Given the description of an element on the screen output the (x, y) to click on. 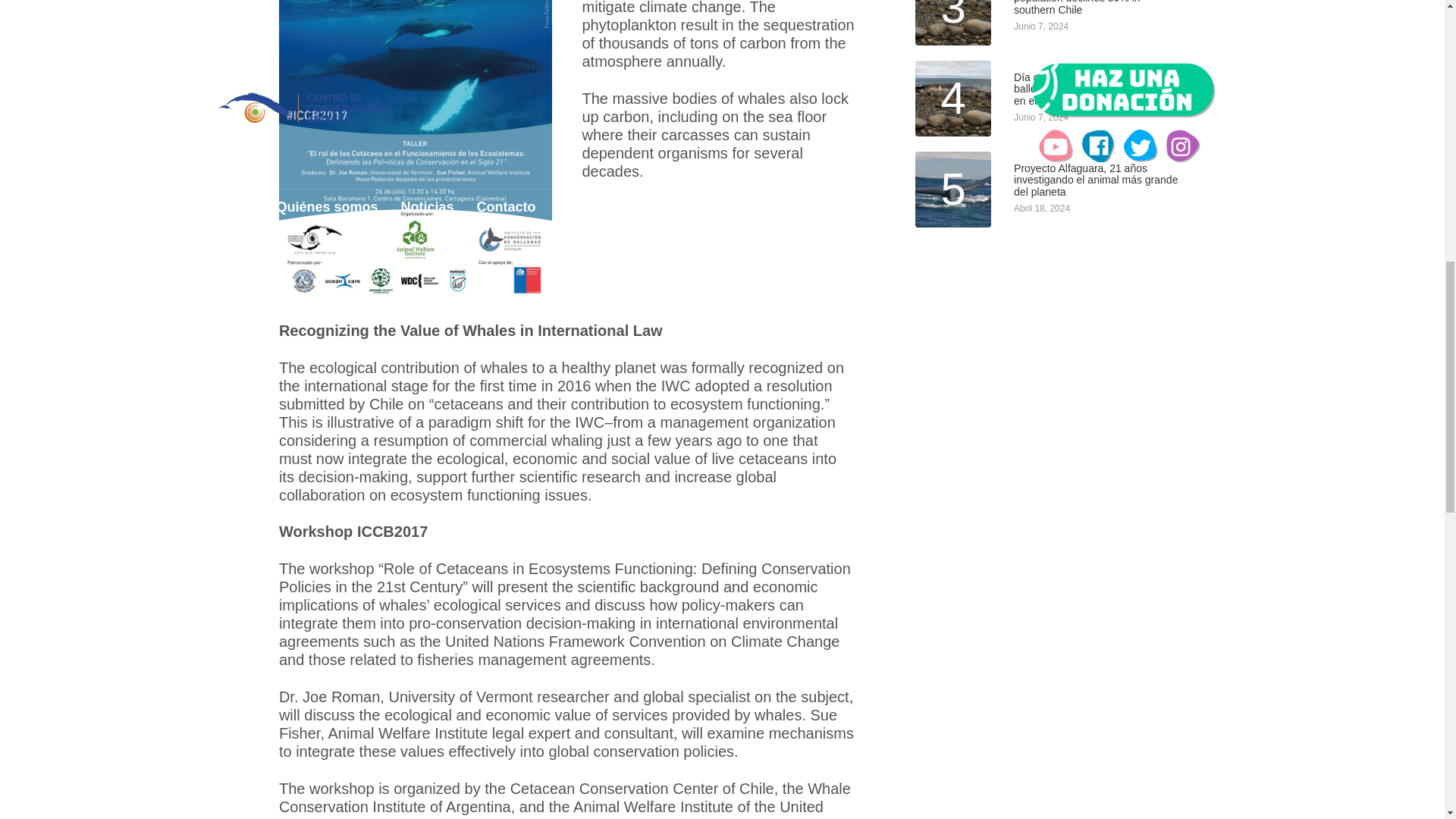
Scroll To Top (1420, 25)
4 (953, 98)
3 (953, 22)
5 (953, 189)
